Given the description of an element on the screen output the (x, y) to click on. 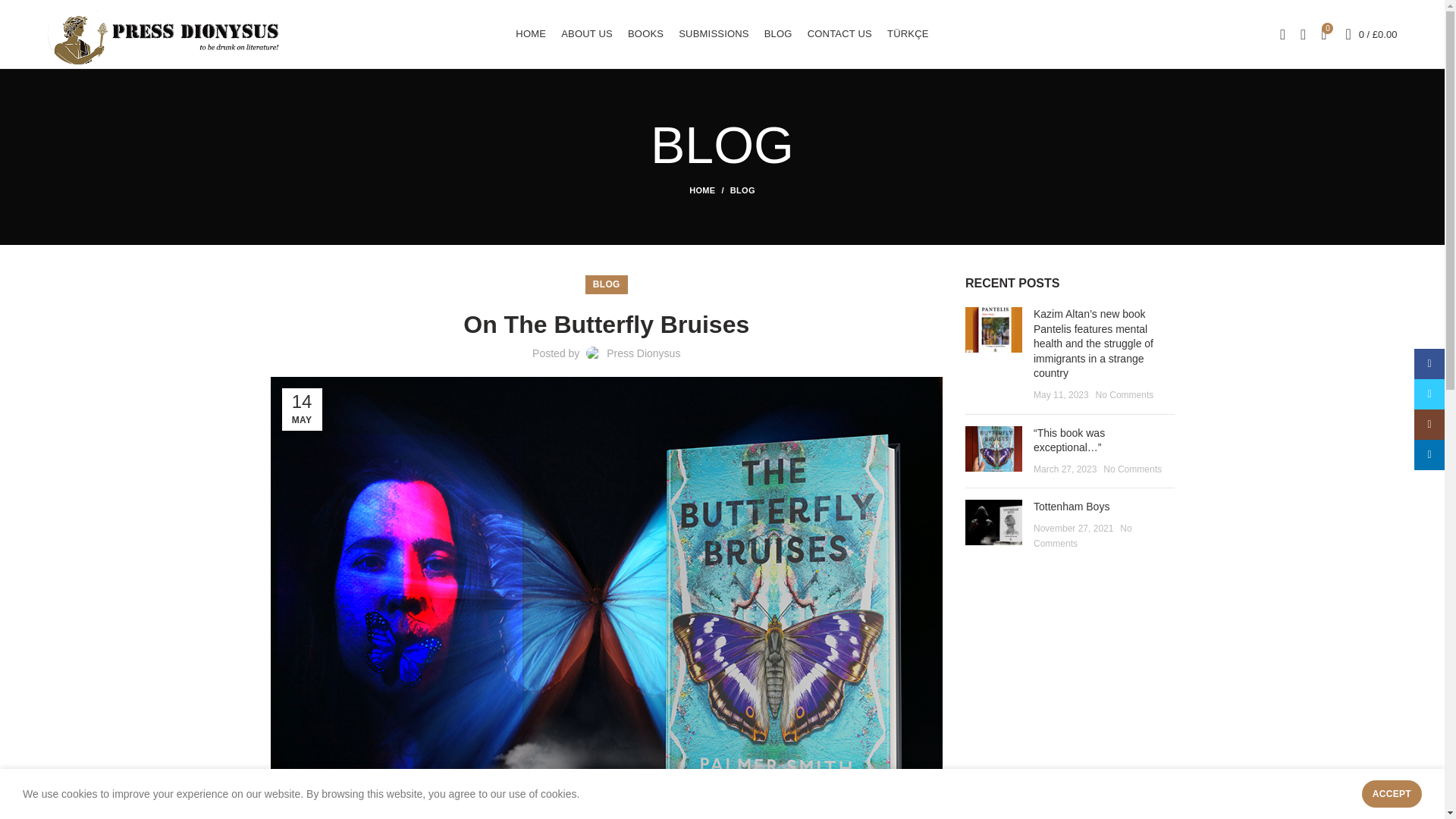
TBoys1 (993, 522)
3 (993, 448)
BLOG (606, 284)
Press Dionysus (643, 353)
ABOUT US (586, 33)
SUBMISSIONS (714, 33)
BLOG (742, 189)
Shopping cart (1371, 33)
HOME (530, 33)
BLOG (778, 33)
HOME (709, 190)
8888 (993, 329)
No Comments (1125, 394)
CONTACT US (839, 33)
BOOKS (645, 33)
